Given the description of an element on the screen output the (x, y) to click on. 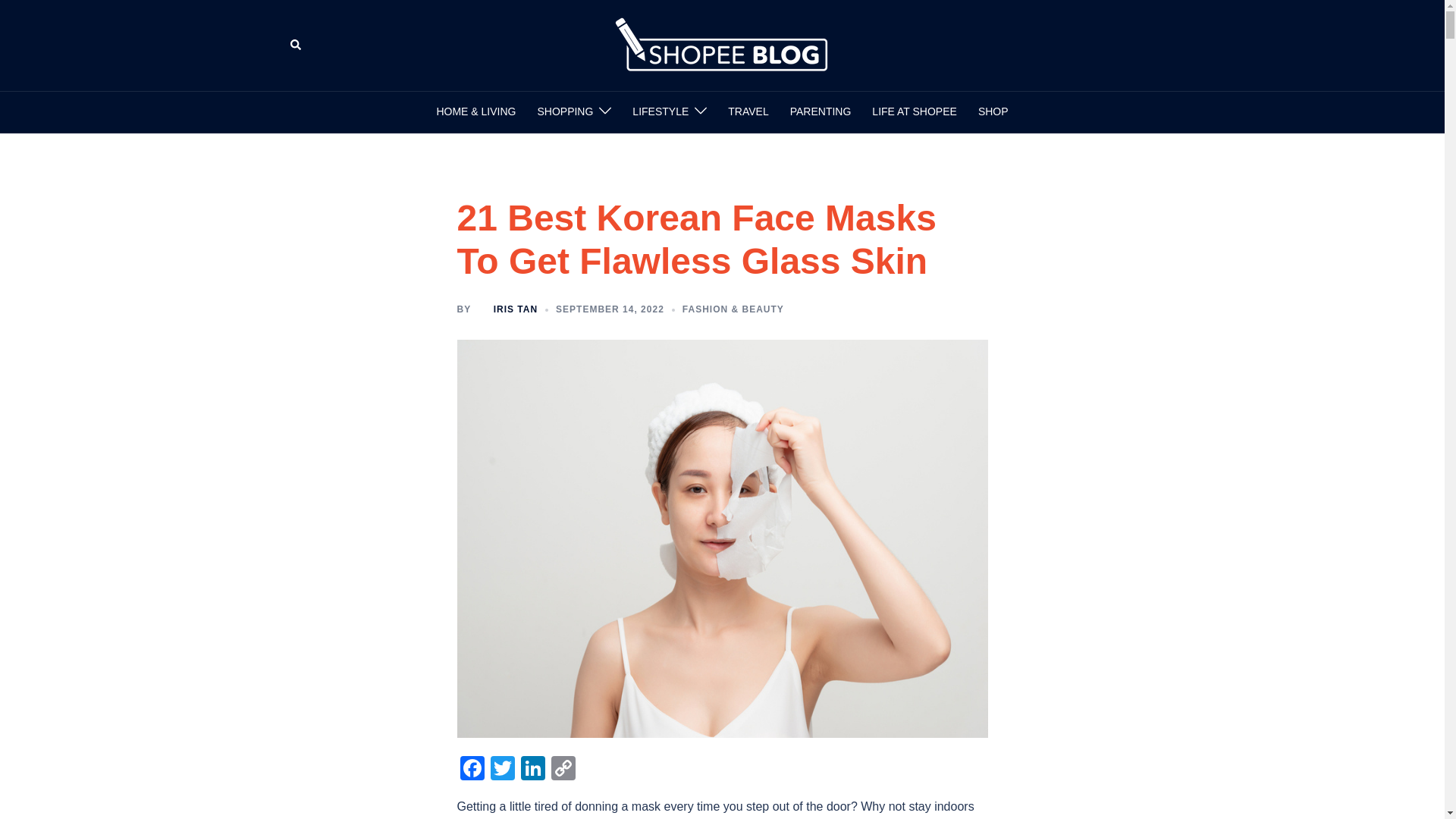
SHOPPING (564, 112)
Search (295, 45)
Twitter (501, 769)
IRIS TAN (515, 308)
PARENTING (820, 112)
Copy Link (562, 769)
LIFE AT SHOPEE (914, 112)
Shopee Singapore Official Blog (721, 43)
TRAVEL (748, 112)
SHOP (993, 112)
